Given the description of an element on the screen output the (x, y) to click on. 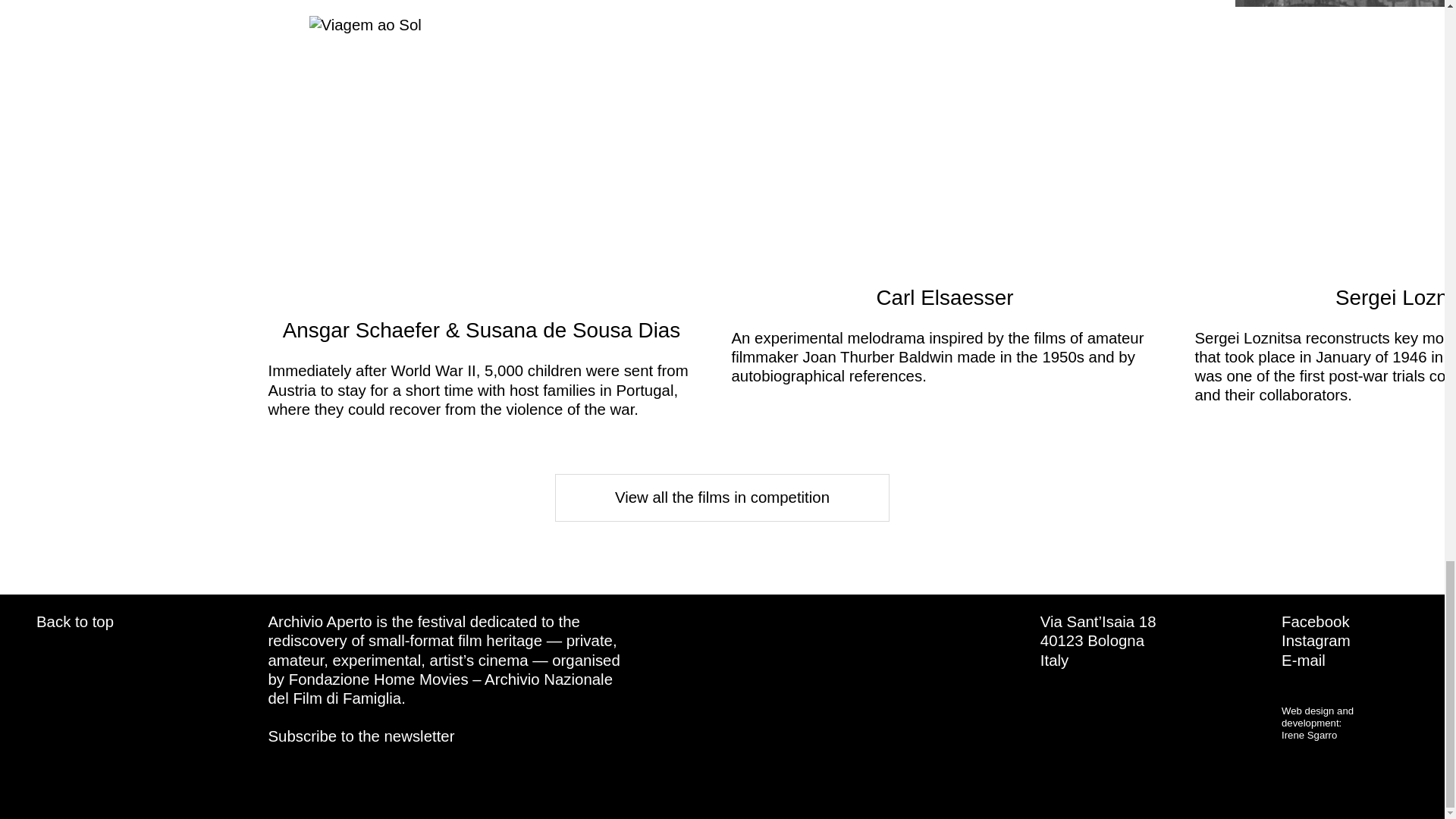
View all the films in competition (721, 497)
Instagram (1316, 640)
E-mail (1302, 660)
Irene Sgarro (1308, 735)
Back to top (74, 621)
Subscribe to the newsletter (360, 736)
Facebook (1315, 621)
